Given the description of an element on the screen output the (x, y) to click on. 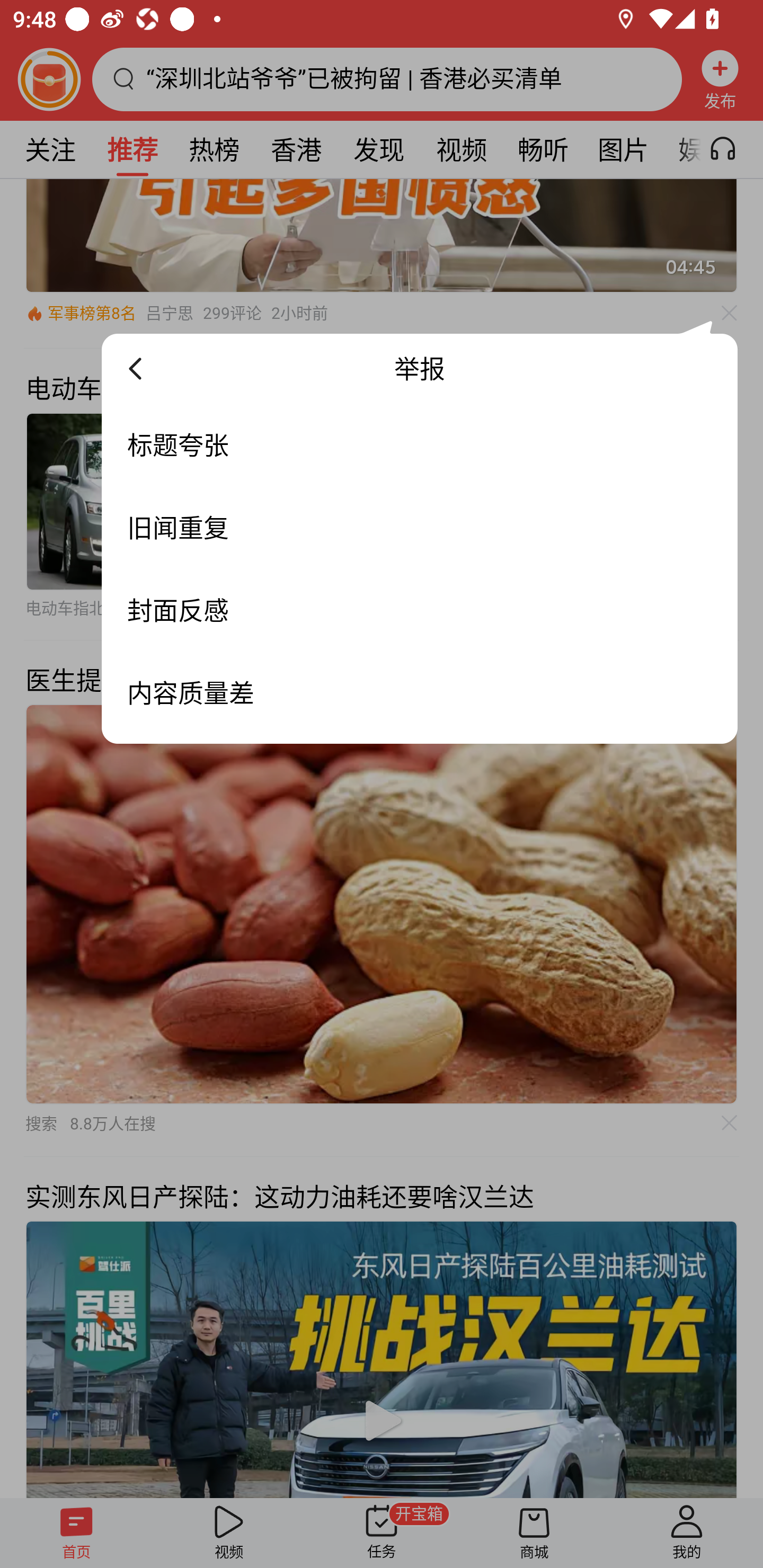
标题夸张 (419, 444)
旧闻重复 (419, 527)
封面反感 (419, 610)
内容质量差 (419, 692)
